Given the description of an element on the screen output the (x, y) to click on. 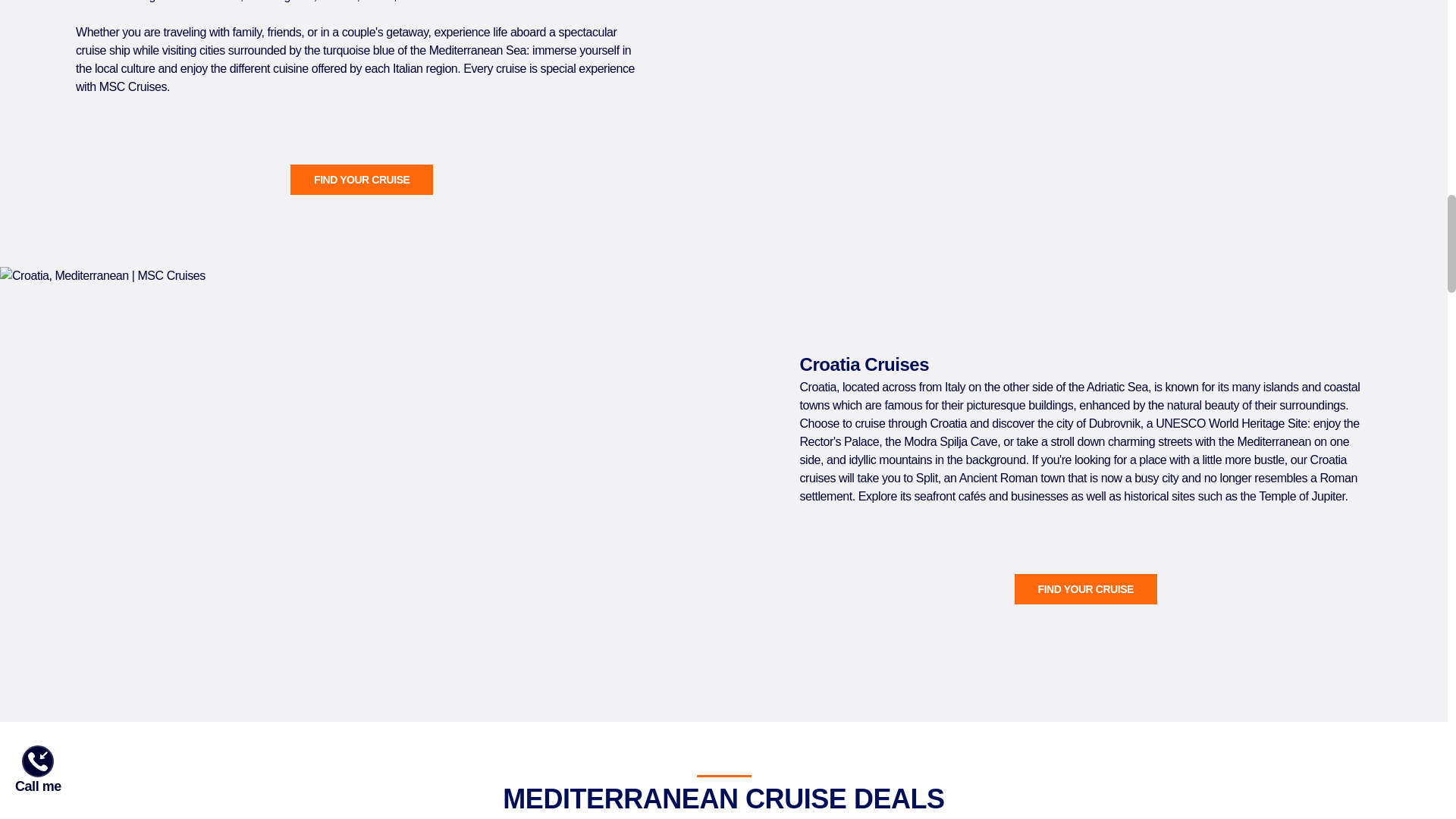
FIND YOUR CRUISE (360, 179)
FIND YOUR CRUISE (1085, 589)
